Given the description of an element on the screen output the (x, y) to click on. 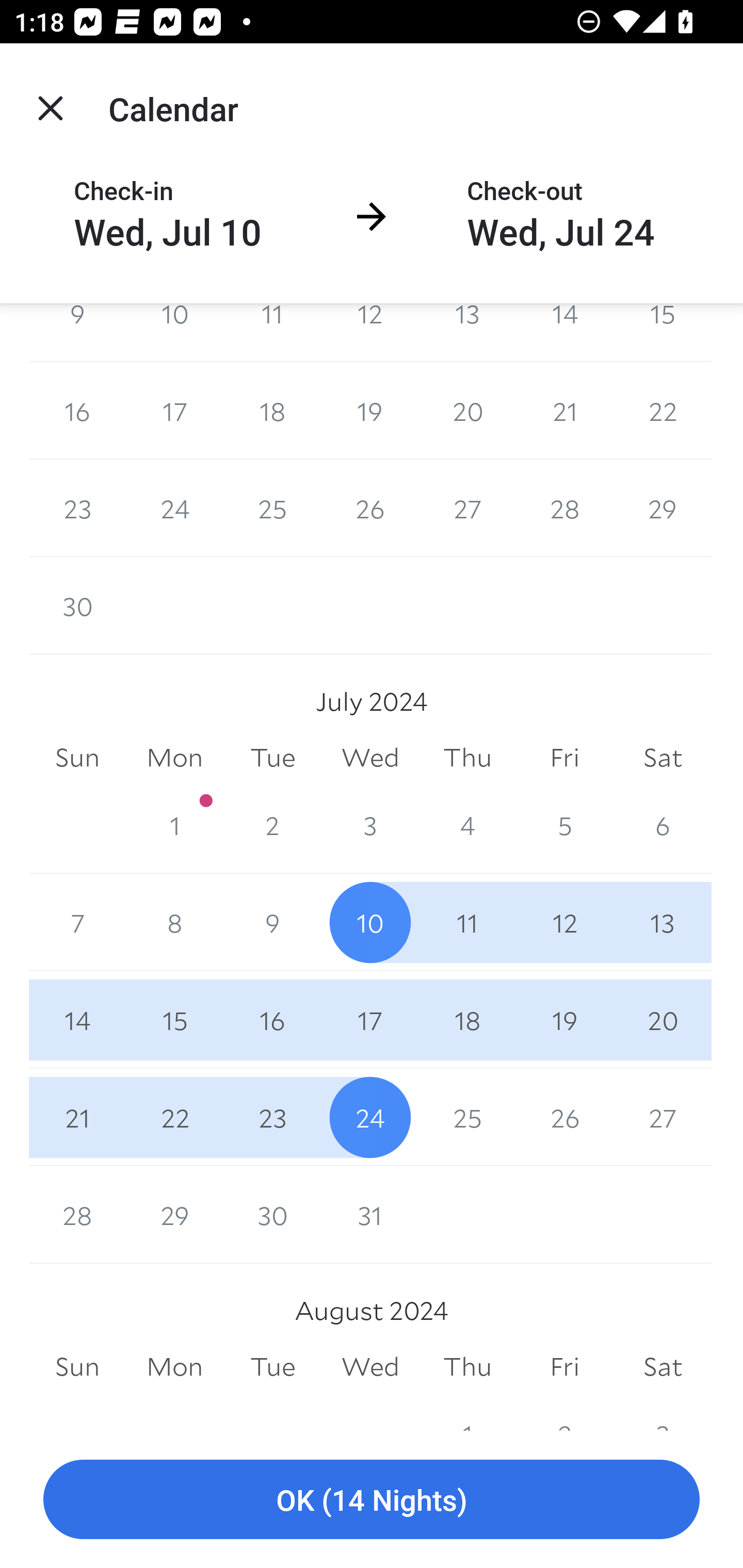
9 9 June 2024 (77, 332)
10 10 June 2024 (174, 332)
11 11 June 2024 (272, 332)
12 12 June 2024 (370, 332)
13 13 June 2024 (467, 332)
14 14 June 2024 (564, 332)
15 15 June 2024 (662, 332)
16 16 June 2024 (77, 410)
17 17 June 2024 (174, 410)
18 18 June 2024 (272, 410)
19 19 June 2024 (370, 410)
20 20 June 2024 (467, 410)
21 21 June 2024 (564, 410)
22 22 June 2024 (662, 410)
23 23 June 2024 (77, 507)
24 24 June 2024 (174, 507)
25 25 June 2024 (272, 507)
26 26 June 2024 (370, 507)
27 27 June 2024 (467, 507)
28 28 June 2024 (564, 507)
29 29 June 2024 (662, 507)
30 30 June 2024 (77, 604)
Sun (77, 757)
Mon (174, 757)
Tue (272, 757)
Wed (370, 757)
Thu (467, 757)
Fri (564, 757)
Sat (662, 757)
1 1 July 2024 (174, 824)
2 2 July 2024 (272, 824)
3 3 July 2024 (370, 824)
4 4 July 2024 (467, 824)
5 5 July 2024 (564, 824)
6 6 July 2024 (662, 824)
7 7 July 2024 (77, 921)
8 8 July 2024 (174, 921)
9 9 July 2024 (272, 921)
10 10 July 2024 (370, 921)
11 11 July 2024 (467, 921)
12 12 July 2024 (564, 921)
13 13 July 2024 (662, 921)
14 14 July 2024 (77, 1019)
15 15 July 2024 (174, 1019)
16 16 July 2024 (272, 1019)
17 17 July 2024 (370, 1019)
18 18 July 2024 (467, 1019)
19 19 July 2024 (564, 1019)
20 20 July 2024 (662, 1019)
21 21 July 2024 (77, 1117)
22 22 July 2024 (174, 1117)
23 23 July 2024 (272, 1117)
24 24 July 2024 (370, 1117)
25 25 July 2024 (467, 1117)
26 26 July 2024 (564, 1117)
27 27 July 2024 (662, 1117)
28 28 July 2024 (77, 1214)
29 29 July 2024 (174, 1214)
30 30 July 2024 (272, 1214)
31 31 July 2024 (370, 1214)
Sun (77, 1367)
Mon (174, 1367)
Tue (272, 1367)
Wed (370, 1367)
Thu (467, 1367)
Fri (564, 1367)
Sat (662, 1367)
OK (14 Nights) (371, 1499)
